Given the description of an element on the screen output the (x, y) to click on. 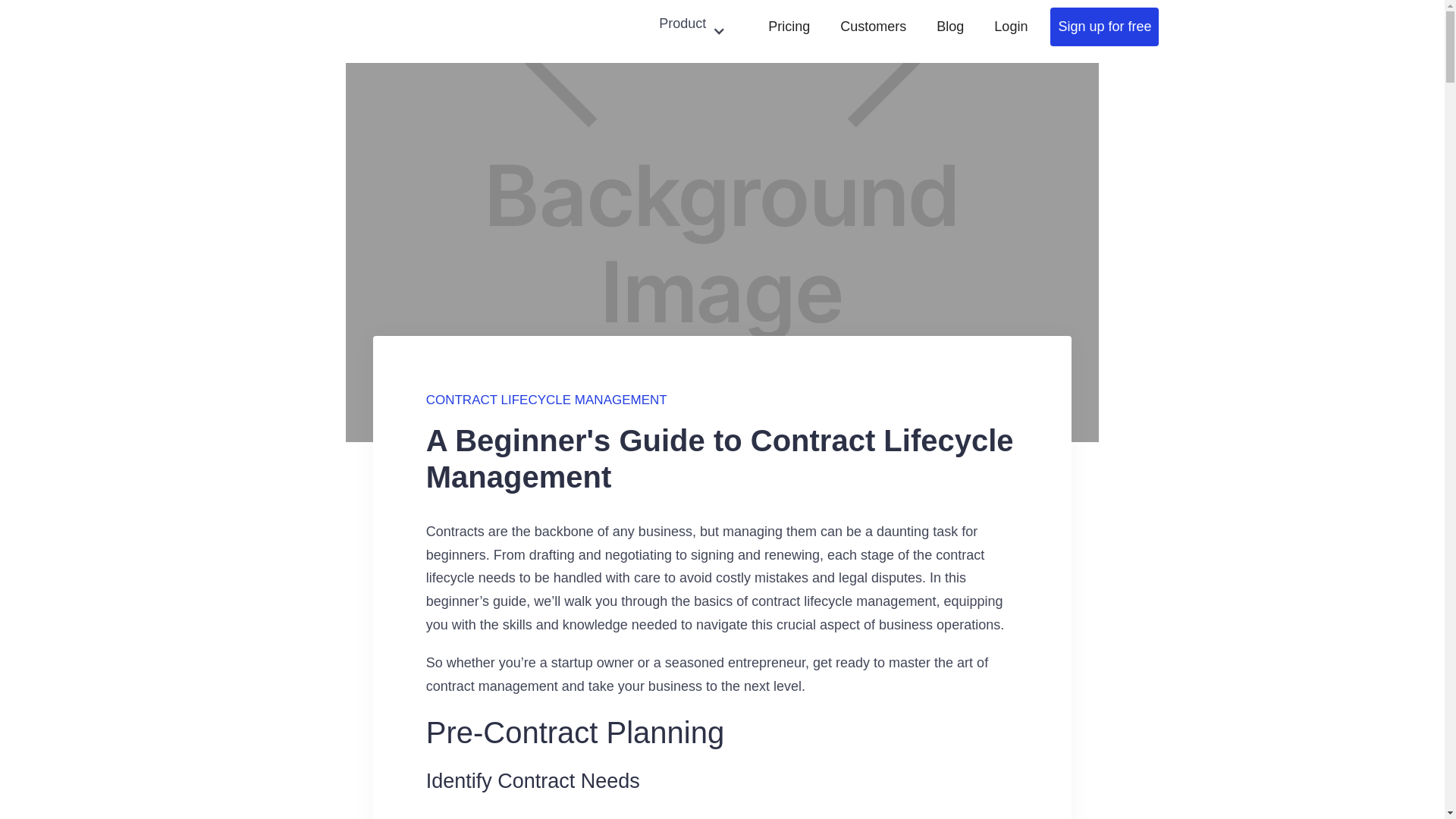
Sign up for free (1103, 26)
Blog (949, 31)
Customers (873, 31)
Login (1010, 31)
Pricing (788, 31)
